Given the description of an element on the screen output the (x, y) to click on. 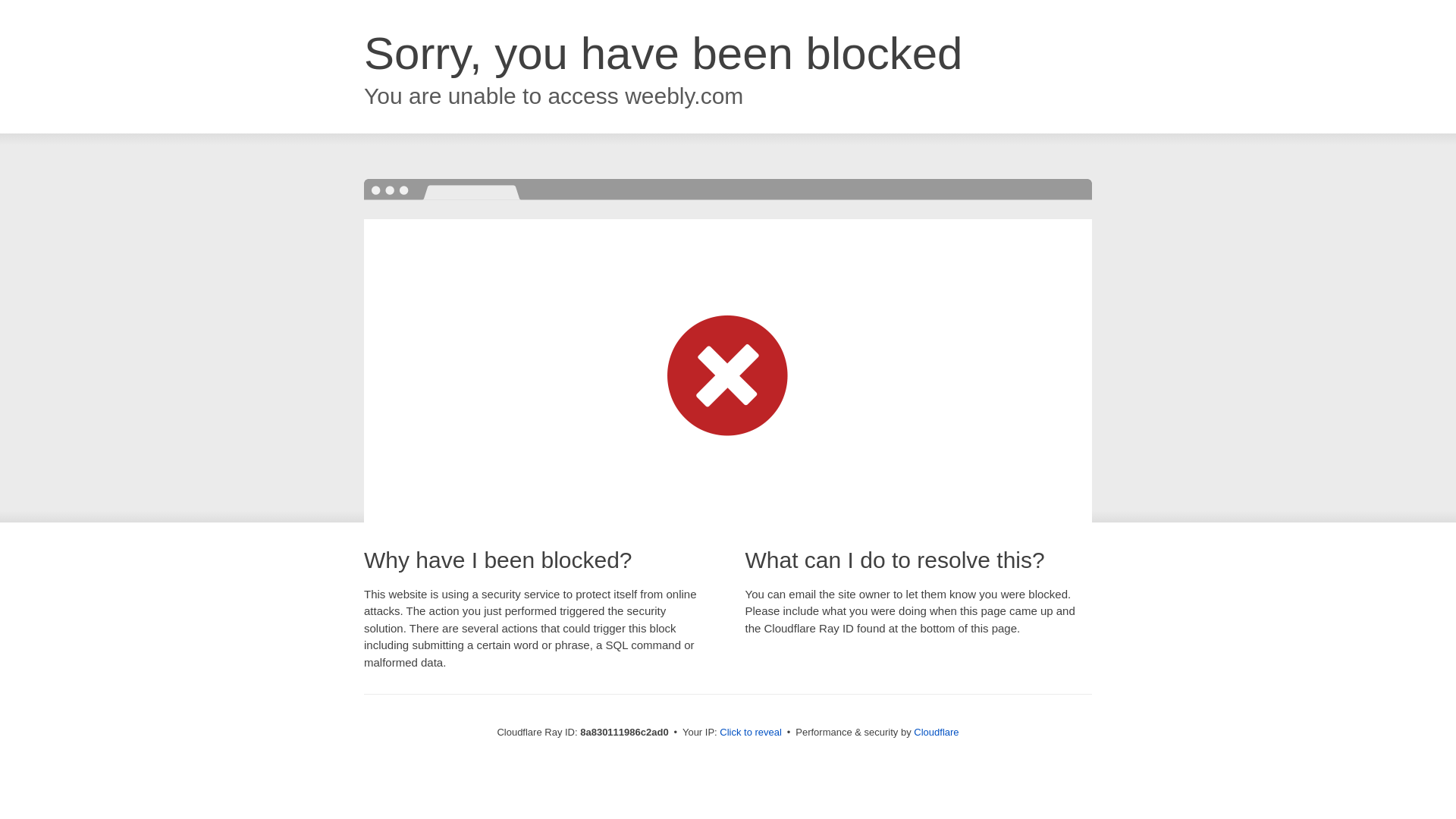
Cloudflare (936, 731)
Click to reveal (750, 732)
